Given the description of an element on the screen output the (x, y) to click on. 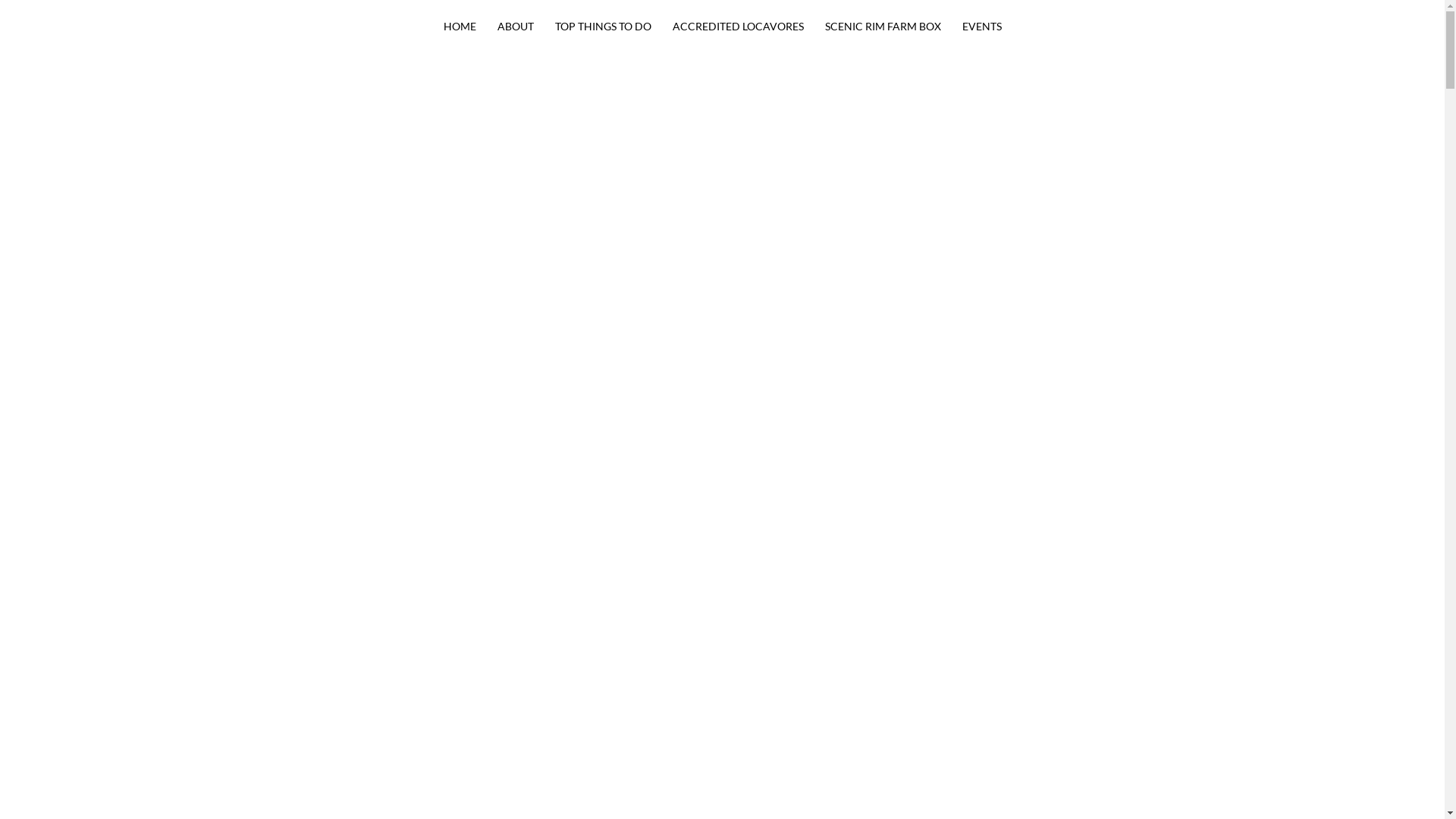
ACCREDITED LOCAVORES Element type: text (737, 26)
ABOUT Element type: text (515, 26)
TOP THINGS TO DO Element type: text (603, 26)
HOME Element type: text (458, 26)
EVENTS Element type: text (981, 26)
SCENIC RIM FARM BOX Element type: text (883, 26)
